Given the description of an element on the screen output the (x, y) to click on. 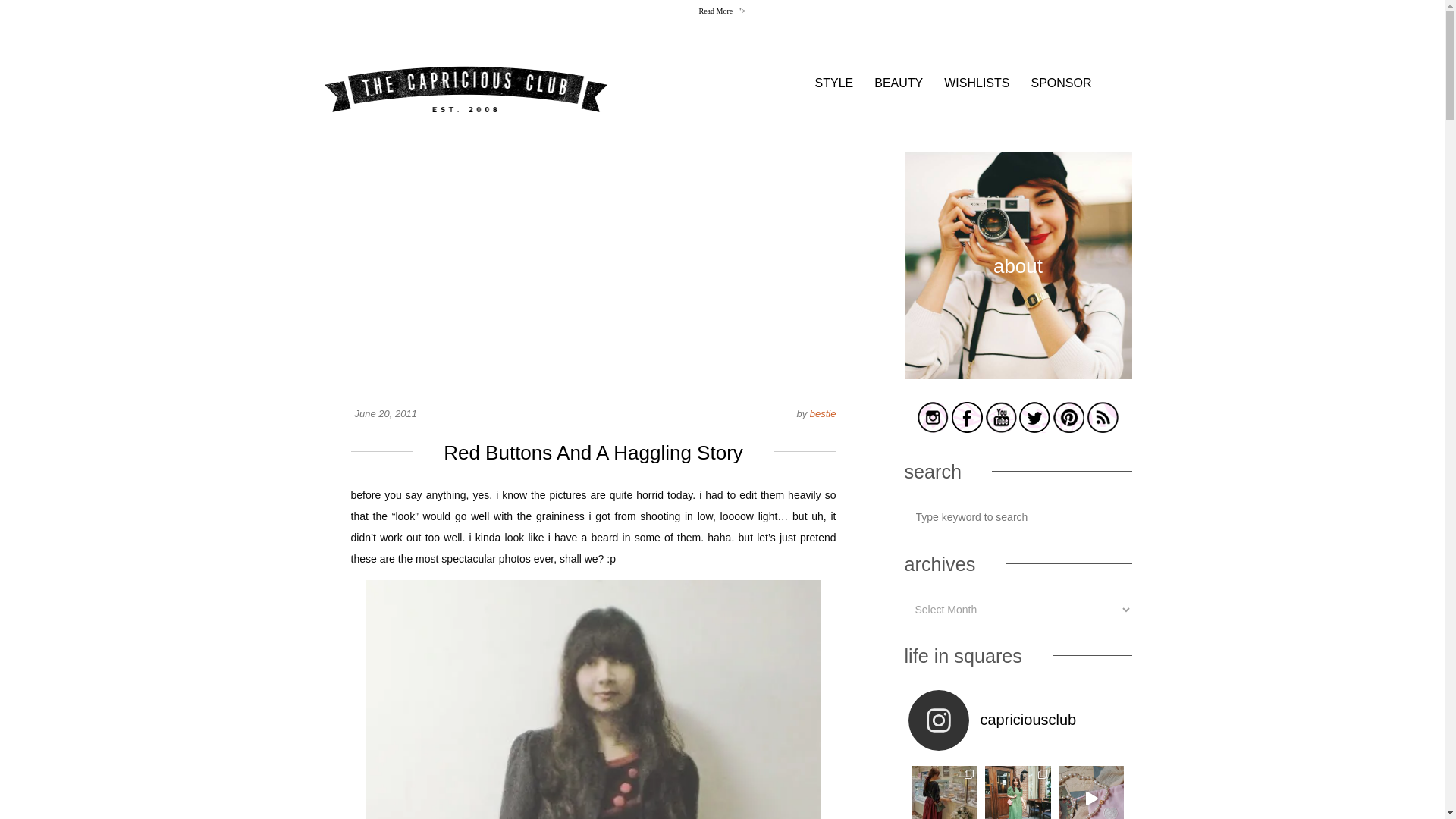
SPONSOR (1060, 82)
bestie (822, 413)
STYLE (834, 82)
Read More (718, 10)
WISHLISTS (976, 82)
Type keyword to search (1017, 517)
Advertisement (593, 257)
Type keyword to search (1017, 517)
BEAUTY (899, 82)
June 20, 2011 (385, 413)
